Given the description of an element on the screen output the (x, y) to click on. 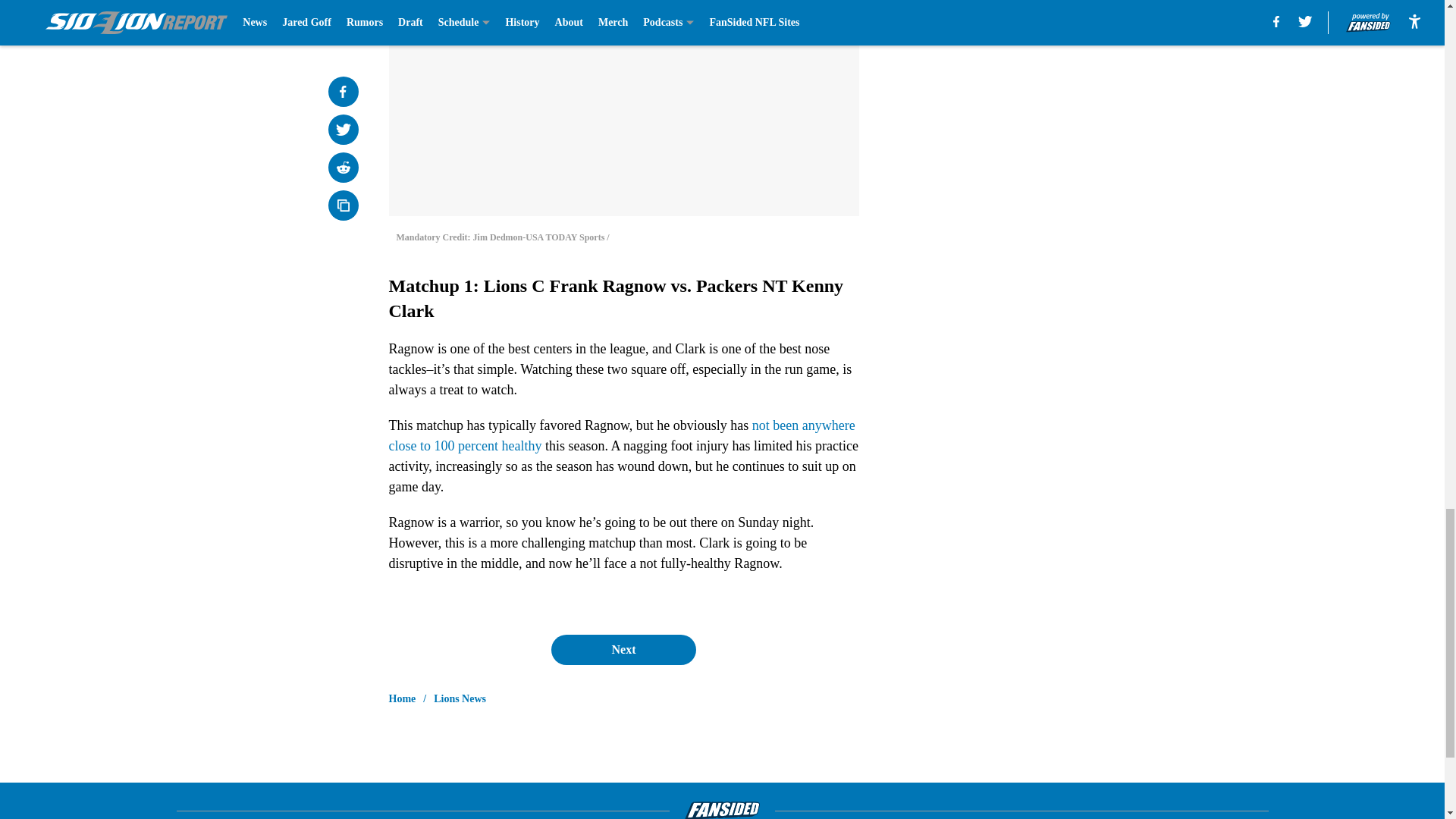
Home (401, 698)
not been anywhere close to 100 percent healthy (621, 435)
Lions News (459, 698)
Next (622, 649)
